Given the description of an element on the screen output the (x, y) to click on. 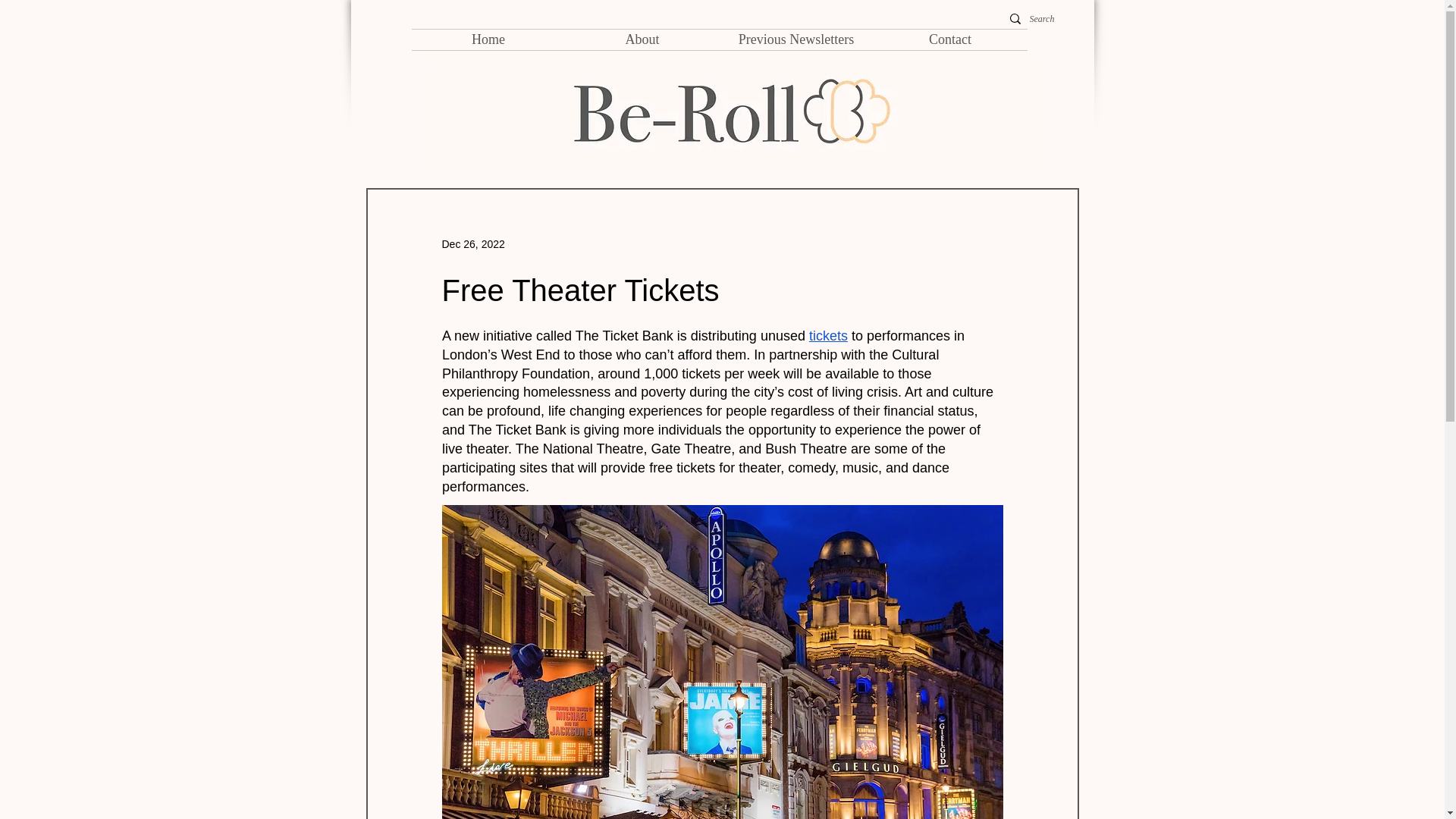
About (642, 39)
Home (487, 39)
Contact (950, 39)
tickets (827, 335)
Previous Newsletters (795, 39)
Dec 26, 2022 (472, 244)
